Given the description of an element on the screen output the (x, y) to click on. 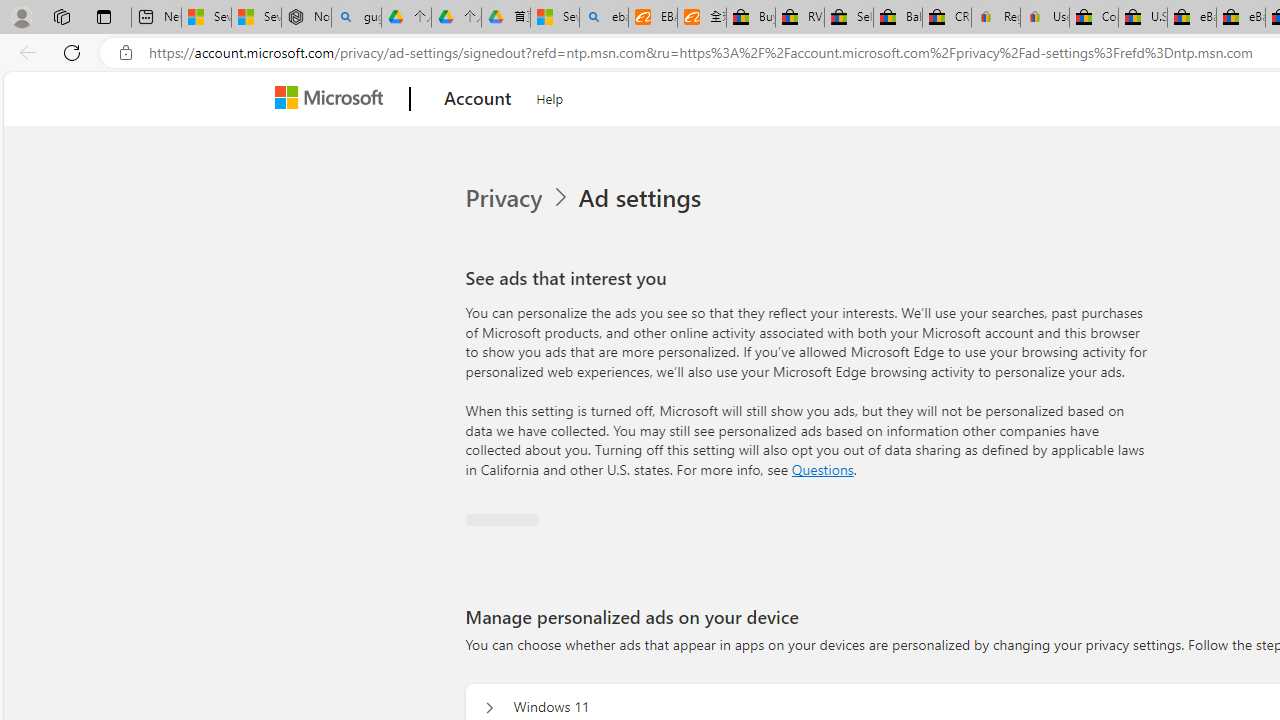
guge yunpan - Search (356, 17)
Account (477, 99)
eBay Inc. Reports Third Quarter 2023 Results (1240, 17)
Consumer Health Data Privacy Policy - eBay Inc. (1093, 17)
U.S. State Privacy Disclosures - eBay Inc. (1142, 17)
Register: Create a personal eBay account (995, 17)
Go to Questions section (822, 468)
Privacy (519, 197)
